Given the description of an element on the screen output the (x, y) to click on. 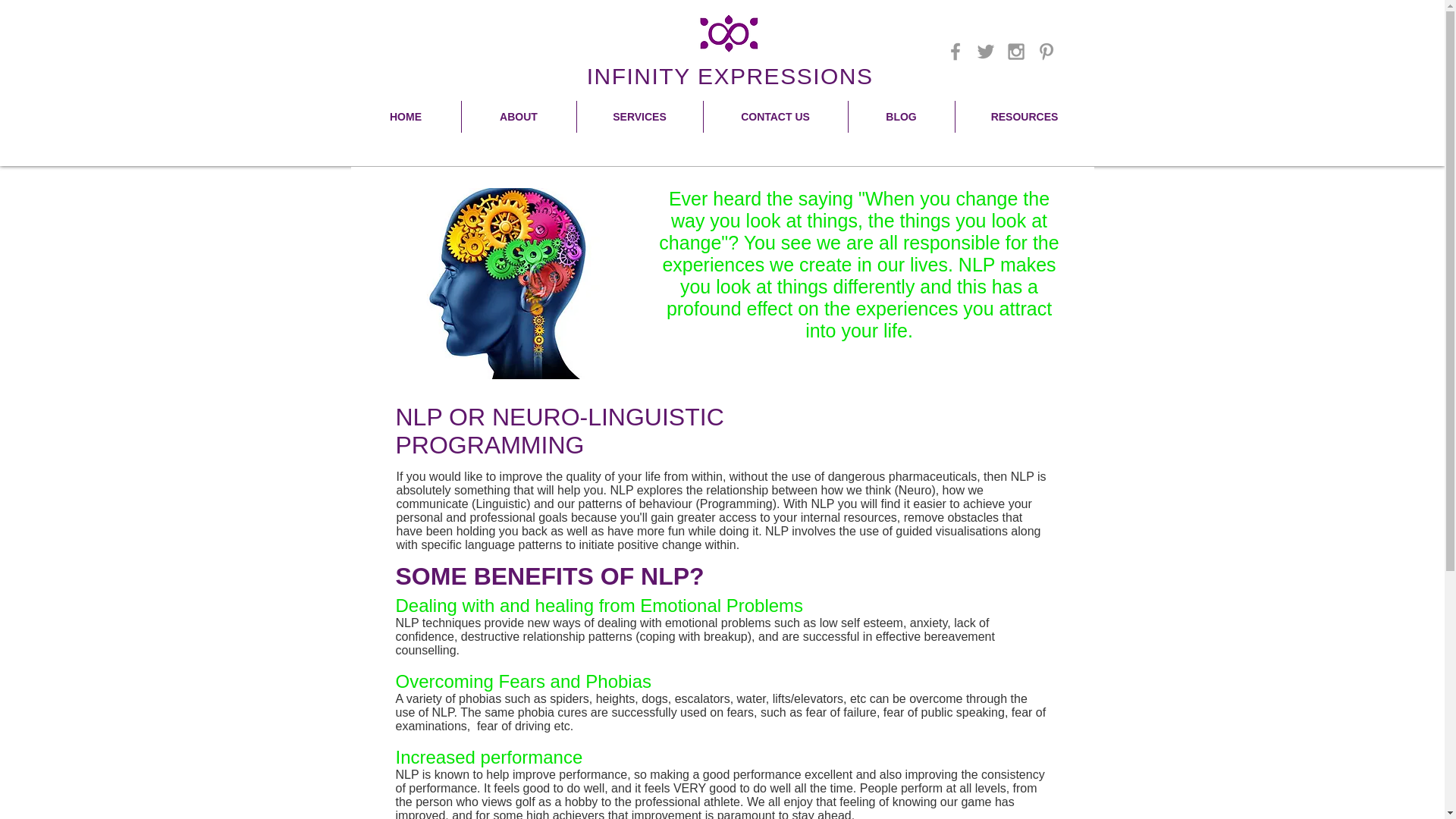
CONTACT US (775, 116)
RESOURCES (1024, 116)
HOME (405, 116)
BLOG (900, 116)
ABOUT (518, 116)
SERVICES (638, 116)
